Given the description of an element on the screen output the (x, y) to click on. 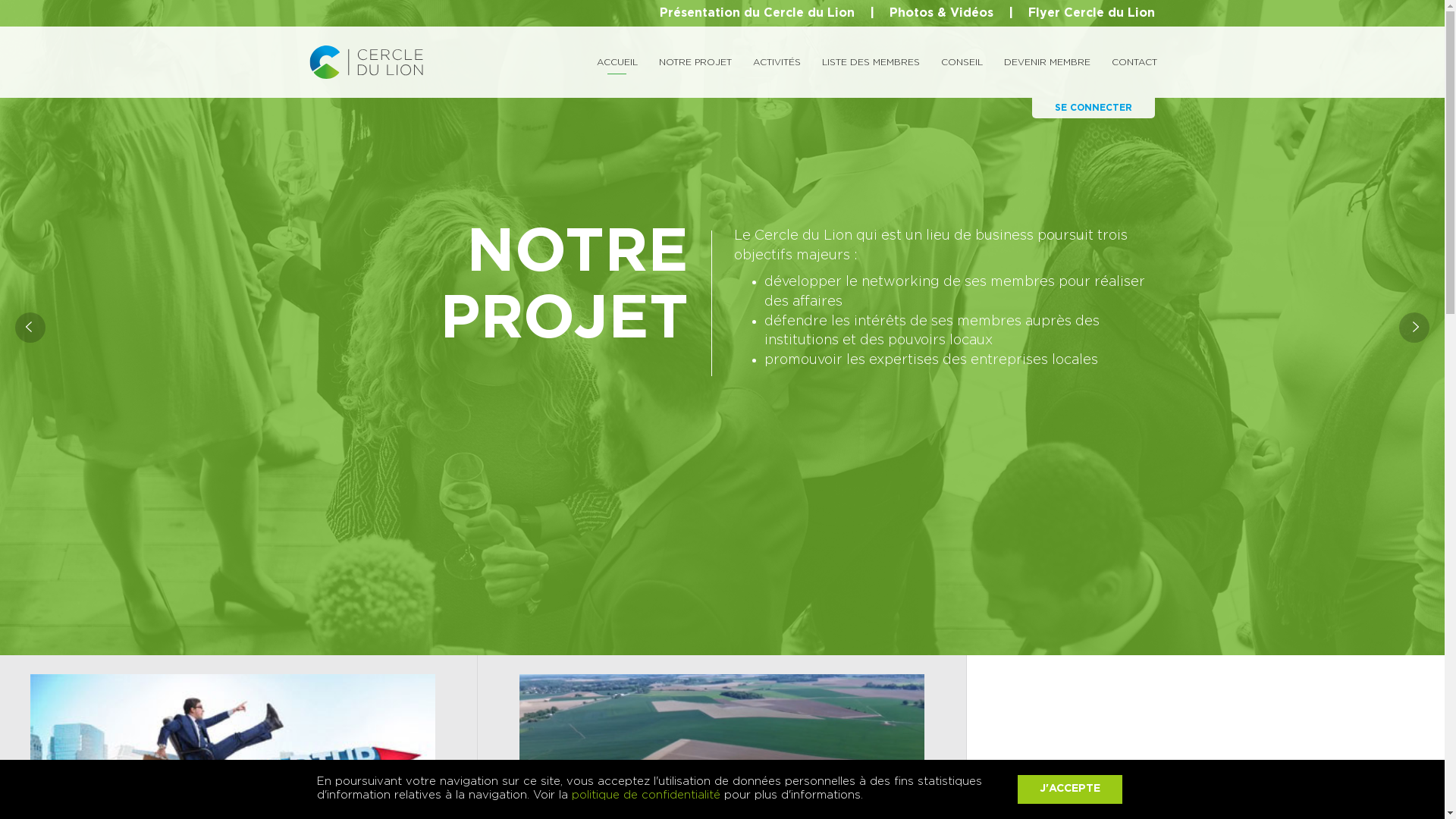
Flyer Cercle du Lion Element type: text (1091, 12)
ACCUEIL Element type: text (616, 61)
J'ACCEPTE Element type: text (1069, 789)
SE CONNECTER Element type: text (1092, 107)
CONTACT Element type: text (1134, 61)
LISTE DES MEMBRES Element type: text (870, 61)
CONSEIL Element type: text (961, 61)
NOTRE PROJET Element type: text (694, 61)
Next Element type: text (1414, 327)
DEVENIR MEMBRE Element type: text (1046, 61)
Previous Element type: text (30, 327)
